Given the description of an element on the screen output the (x, y) to click on. 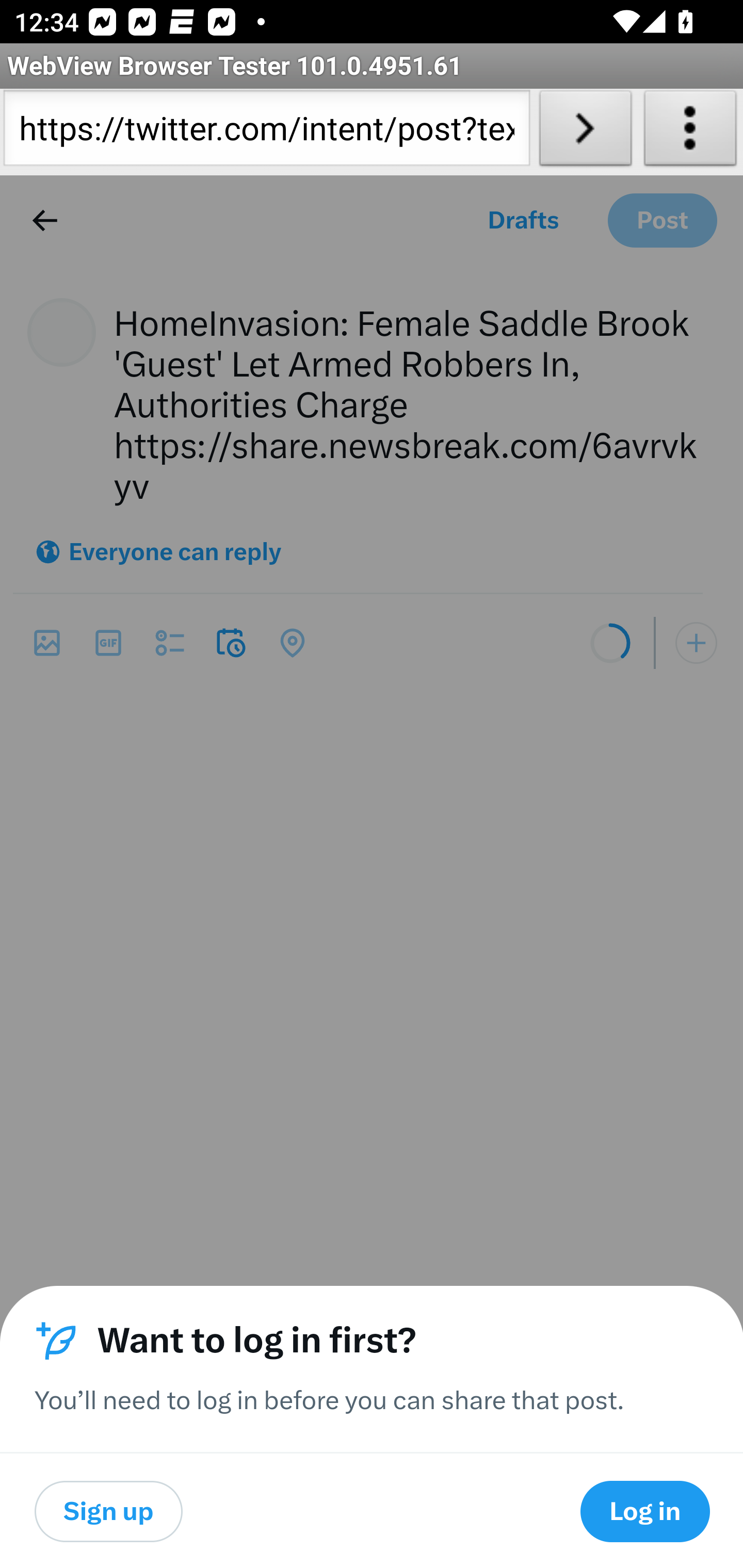
Load URL (585, 132)
About WebView (690, 132)
